Given the description of an element on the screen output the (x, y) to click on. 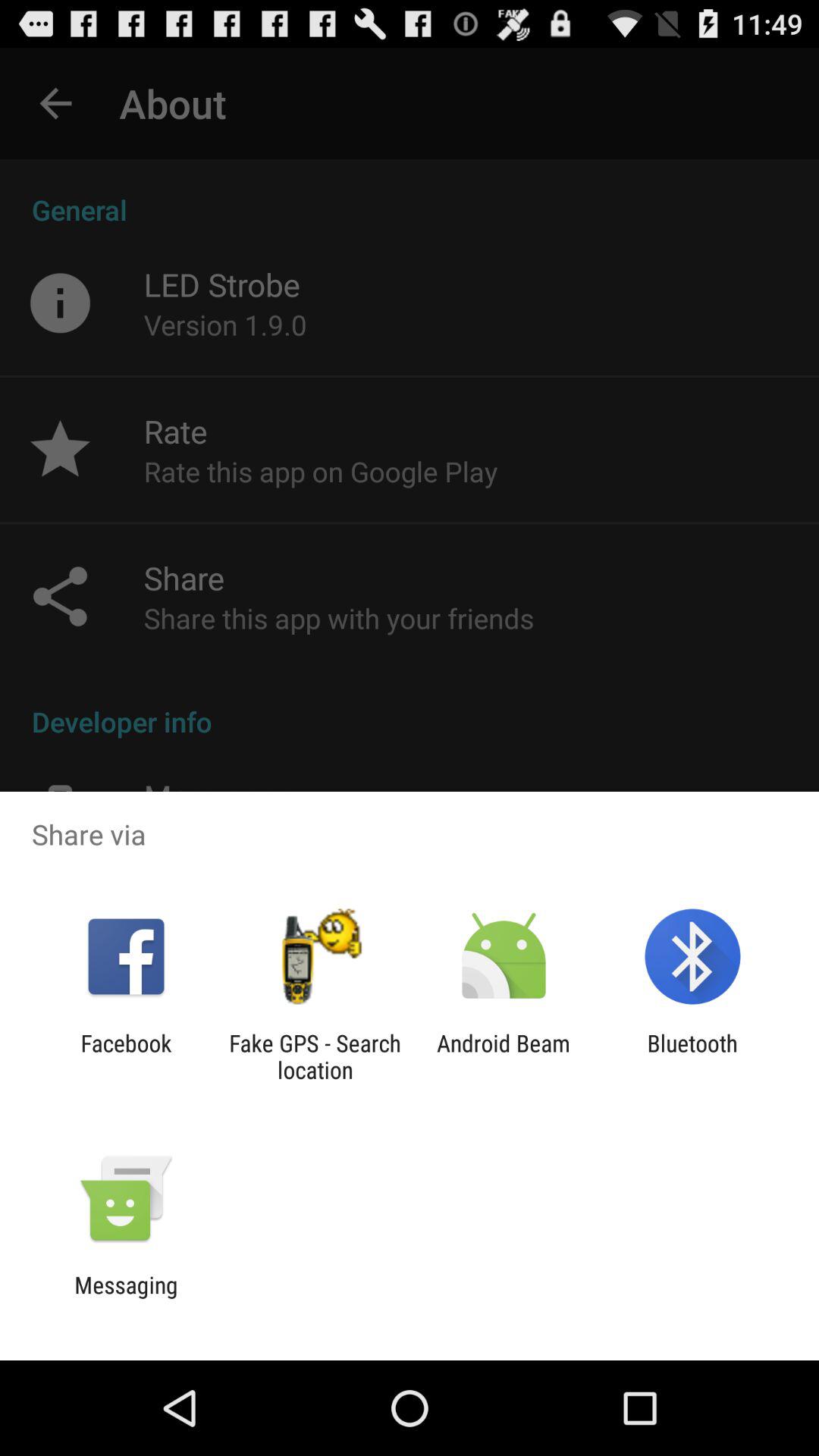
turn off the item at the bottom right corner (692, 1056)
